Given the description of an element on the screen output the (x, y) to click on. 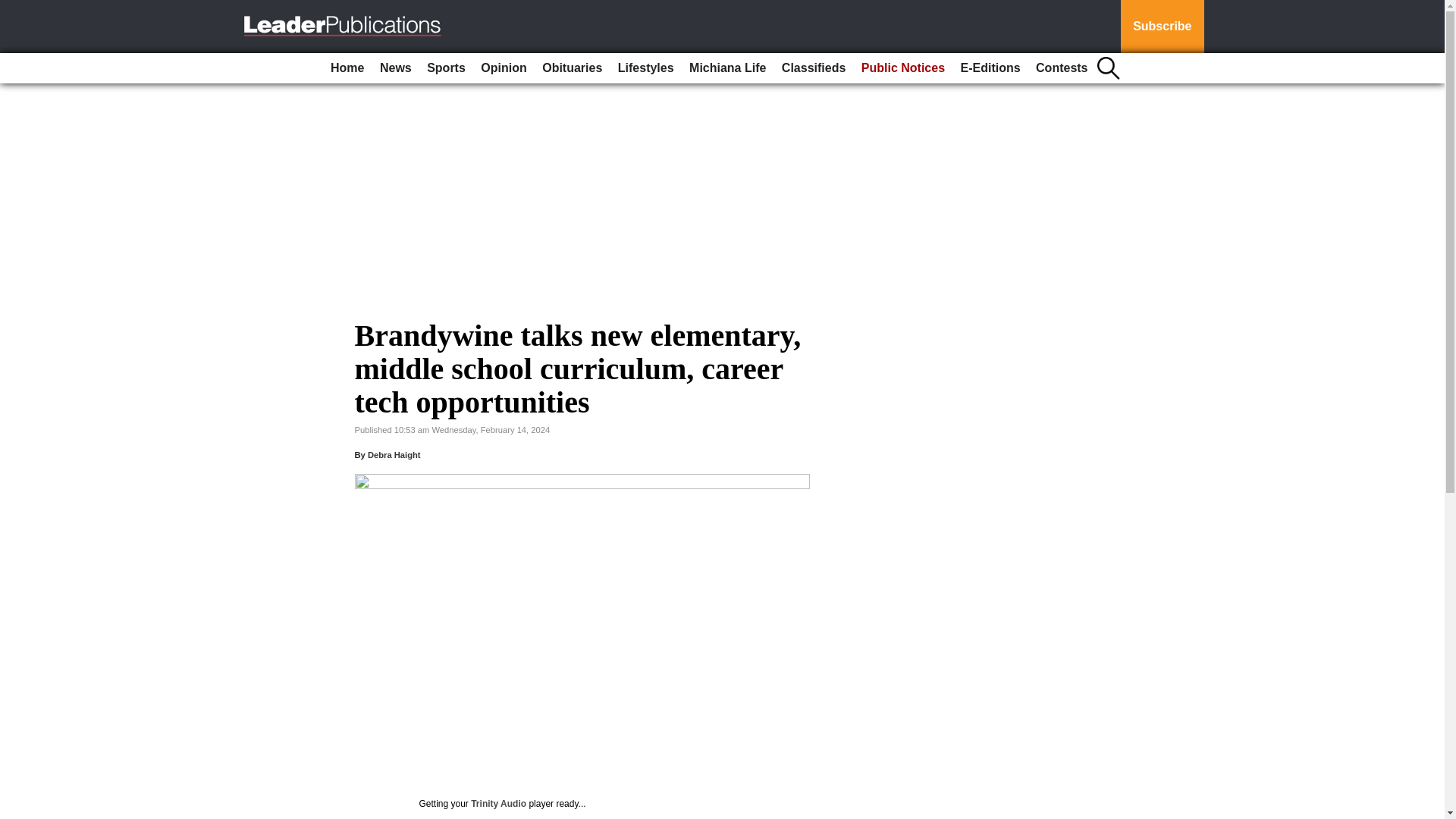
Subscribe (1162, 26)
Debra Haight (394, 454)
News (395, 68)
Lifestyles (645, 68)
Home (346, 68)
Public Notices (903, 68)
E-Editions (989, 68)
Classifieds (813, 68)
Sports (445, 68)
Obituaries (571, 68)
